Given the description of an element on the screen output the (x, y) to click on. 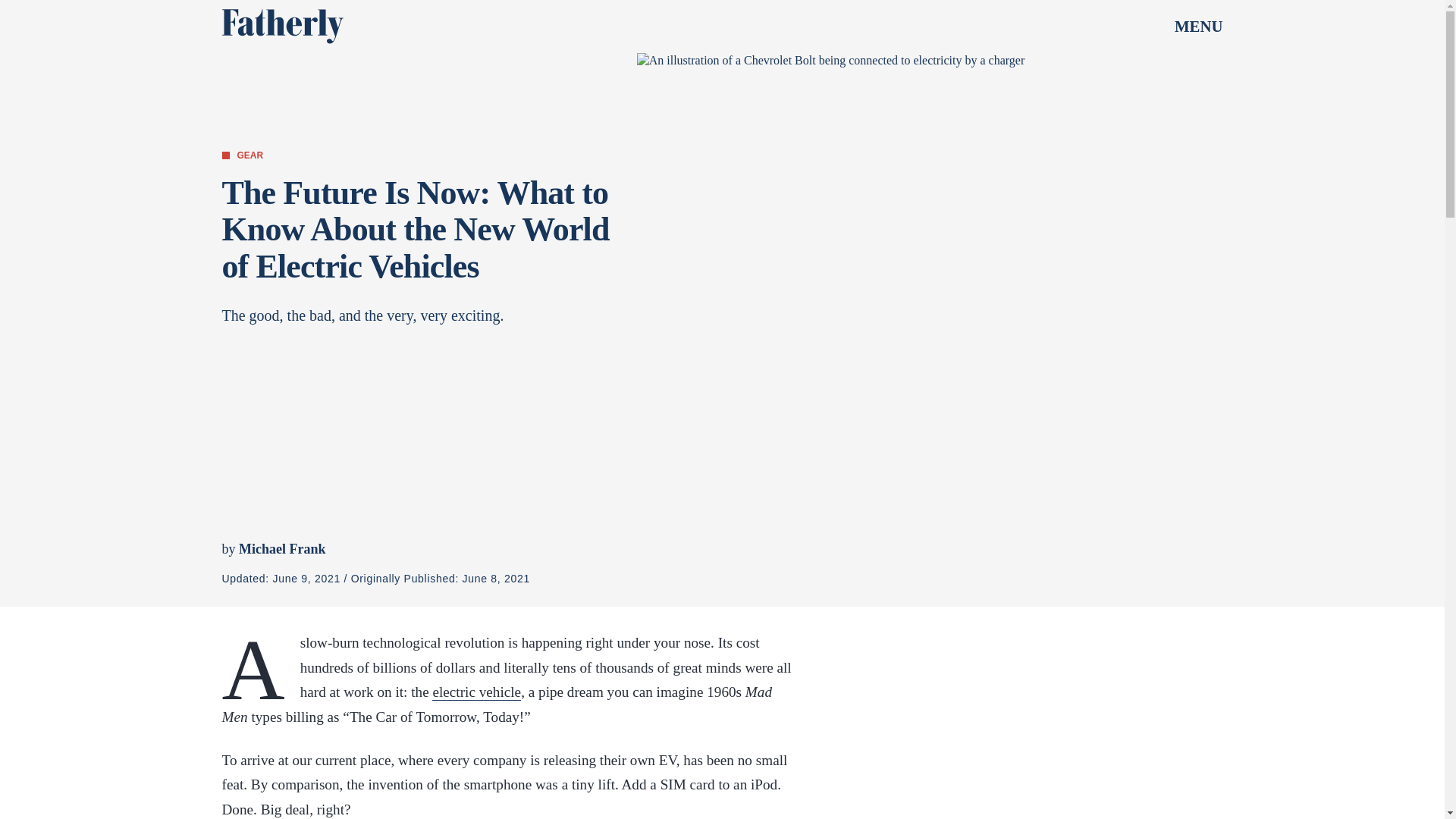
Fatherly (281, 26)
electric vehicle (476, 692)
